Given the description of an element on the screen output the (x, y) to click on. 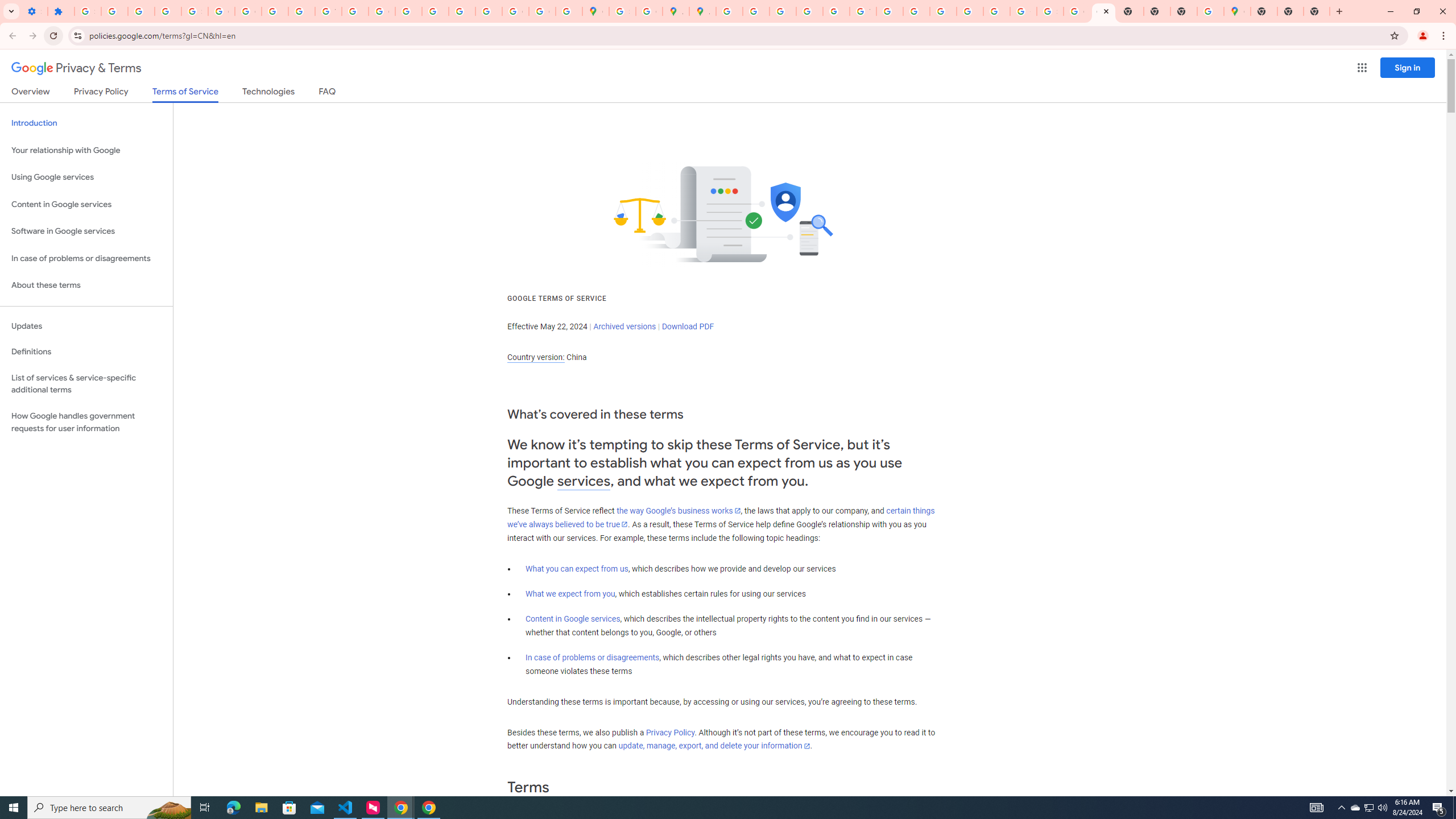
Google Maps (595, 11)
Sign in - Google Accounts (1050, 11)
In case of problems or disagreements (592, 657)
Sign in - Google Accounts (194, 11)
https://scholar.google.com/ (355, 11)
What we expect from you (570, 593)
Google Account Help (221, 11)
Use Google Maps in Space - Google Maps Help (1210, 11)
Country version: (535, 357)
